Given the description of an element on the screen output the (x, y) to click on. 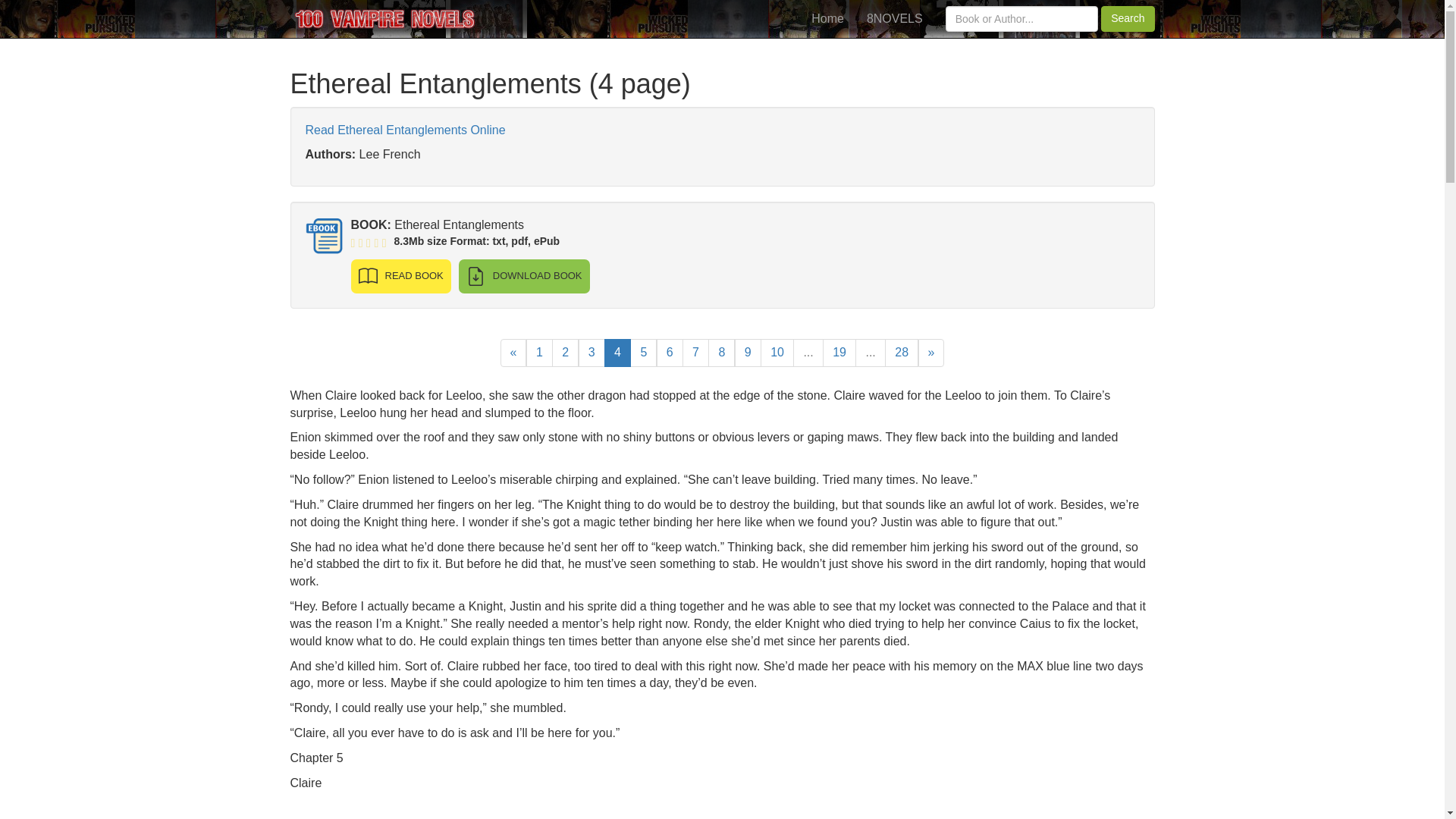
5 (643, 352)
Read Ethereal Entanglements Online (404, 129)
9 (748, 352)
6 (669, 352)
8 (721, 352)
10 (776, 352)
4 (617, 352)
8NOVELS (895, 18)
2 (564, 352)
3 (591, 352)
28 (901, 352)
DOWNLOAD BOOK (523, 276)
READ BOOK (399, 276)
1 (539, 352)
7 (695, 352)
